Given the description of an element on the screen output the (x, y) to click on. 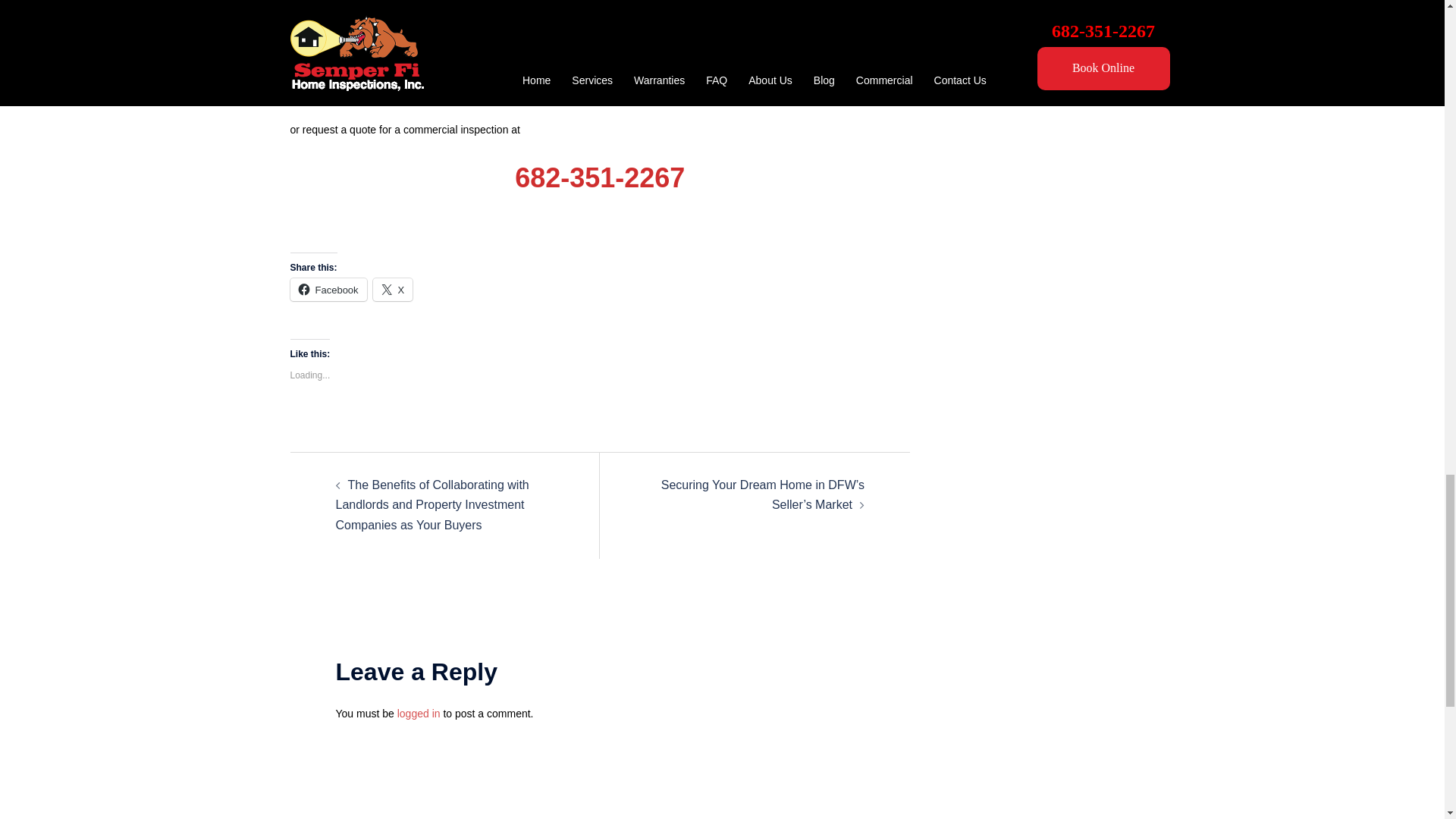
logged in (419, 713)
Click to share on X (392, 289)
X (392, 289)
SEMPER FI COMMERCIAL (599, 67)
Facebook (327, 289)
Click to share on Facebook (327, 289)
